Given the description of an element on the screen output the (x, y) to click on. 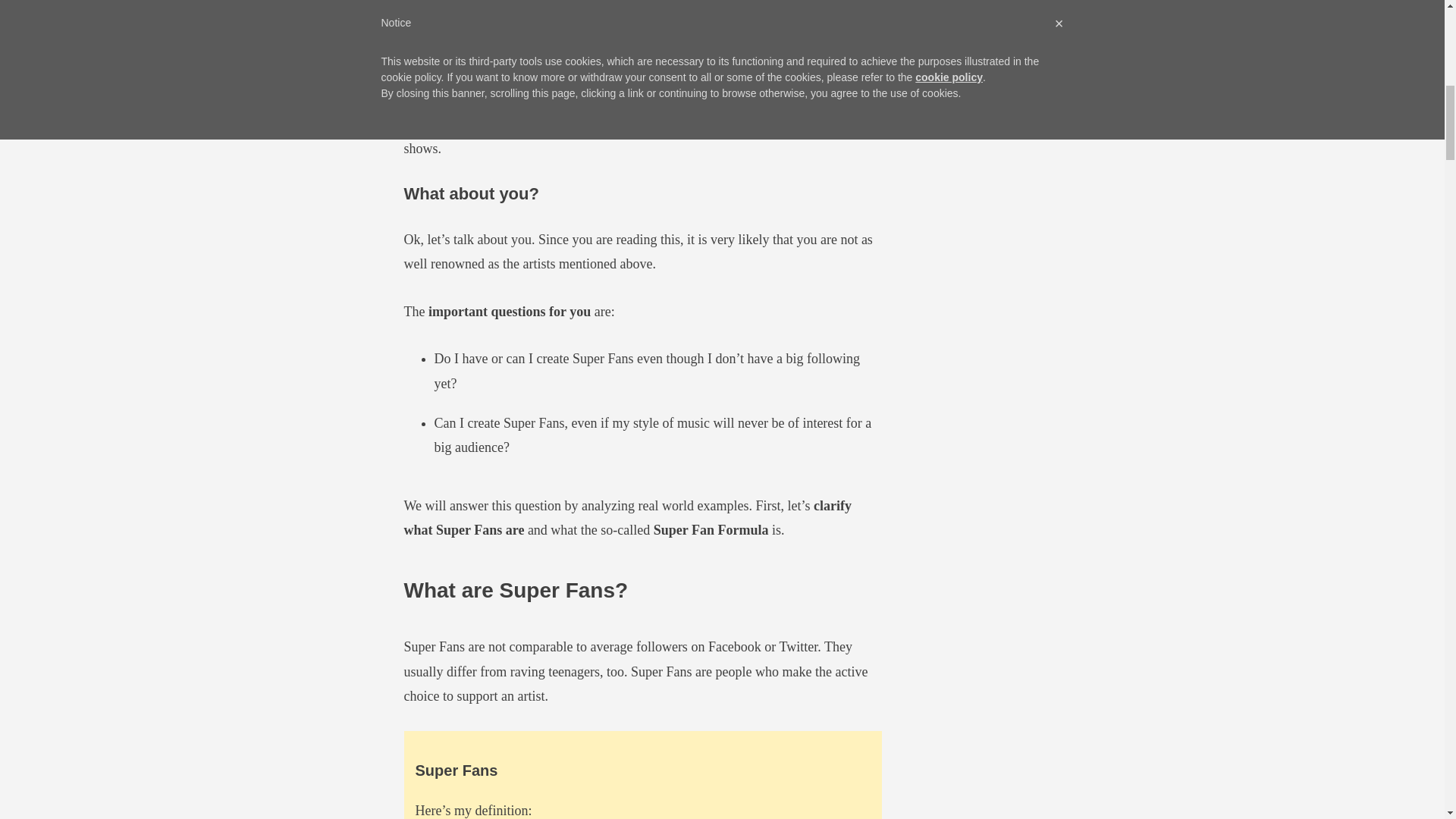
combined Facebook and twitter followings (637, 111)
